Given the description of an element on the screen output the (x, y) to click on. 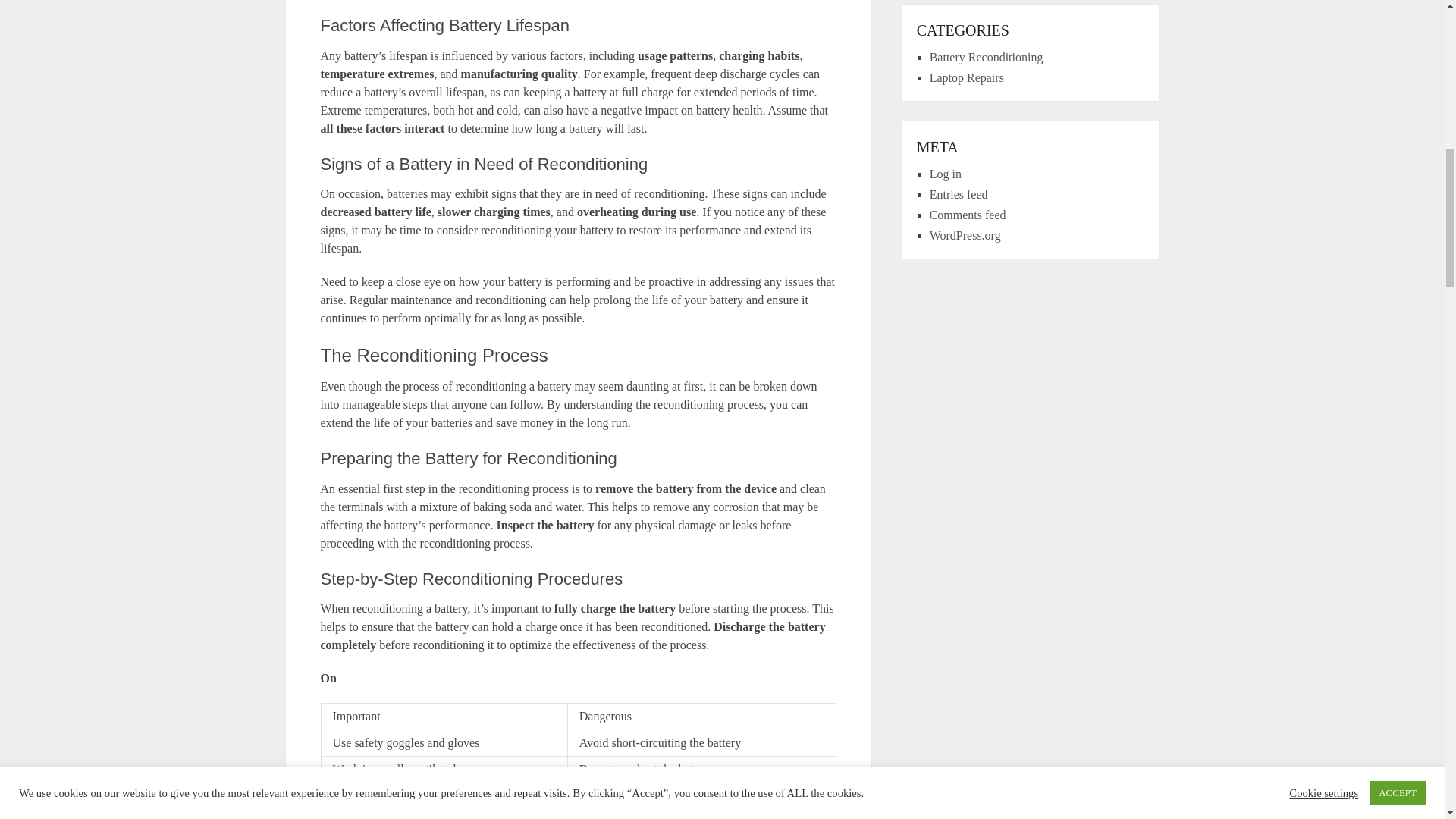
Comments feed (968, 214)
Laptop Repairs (967, 77)
Battery Reconditioning (986, 56)
Entries feed (959, 194)
Log in (945, 173)
